Given the description of an element on the screen output the (x, y) to click on. 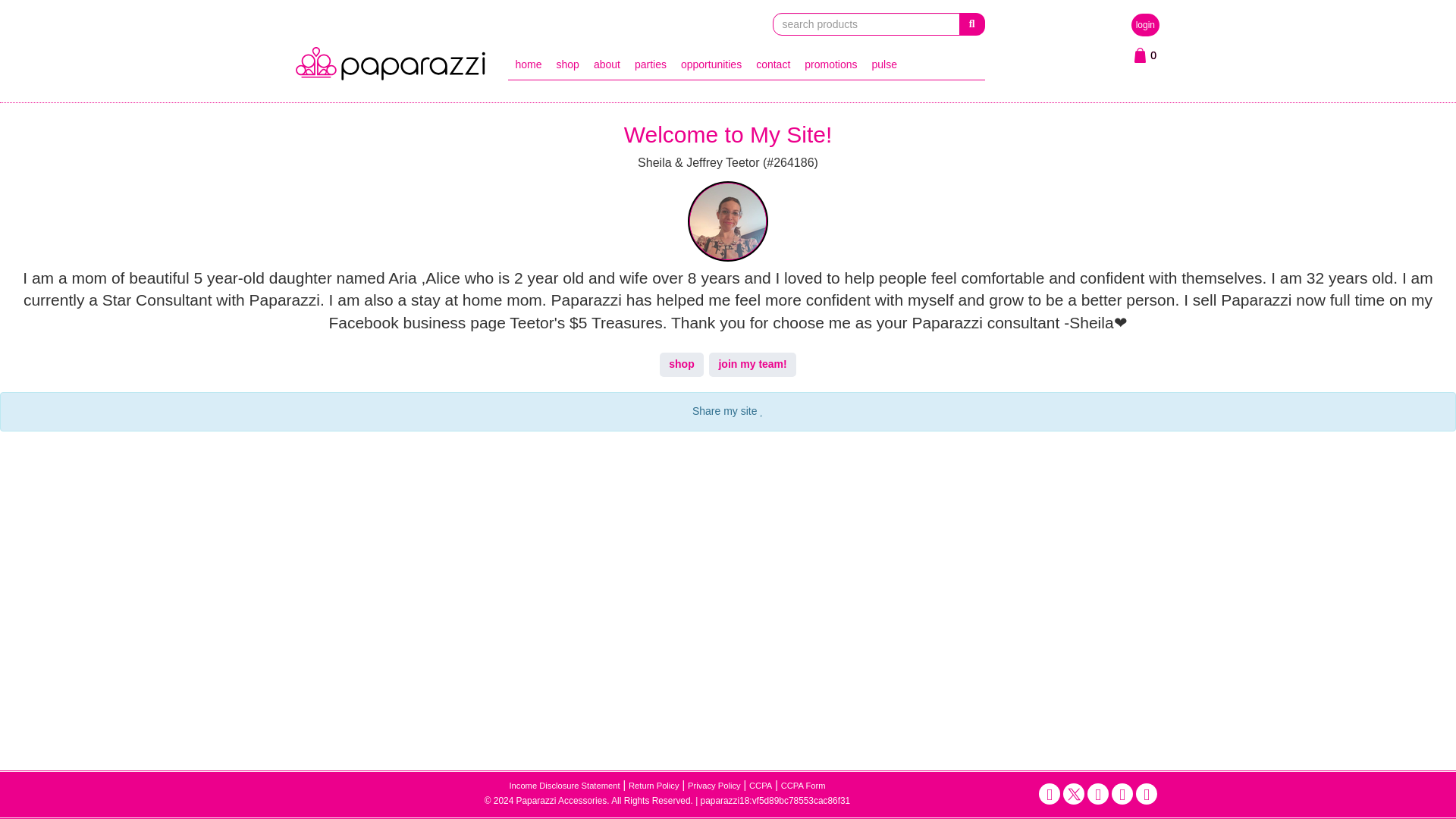
shop (567, 64)
about (606, 64)
login (1144, 24)
Paparazzi (389, 63)
0 (1145, 55)
opportunities (710, 64)
home (528, 64)
contact (773, 64)
pulse (884, 64)
parties (649, 64)
